Given the description of an element on the screen output the (x, y) to click on. 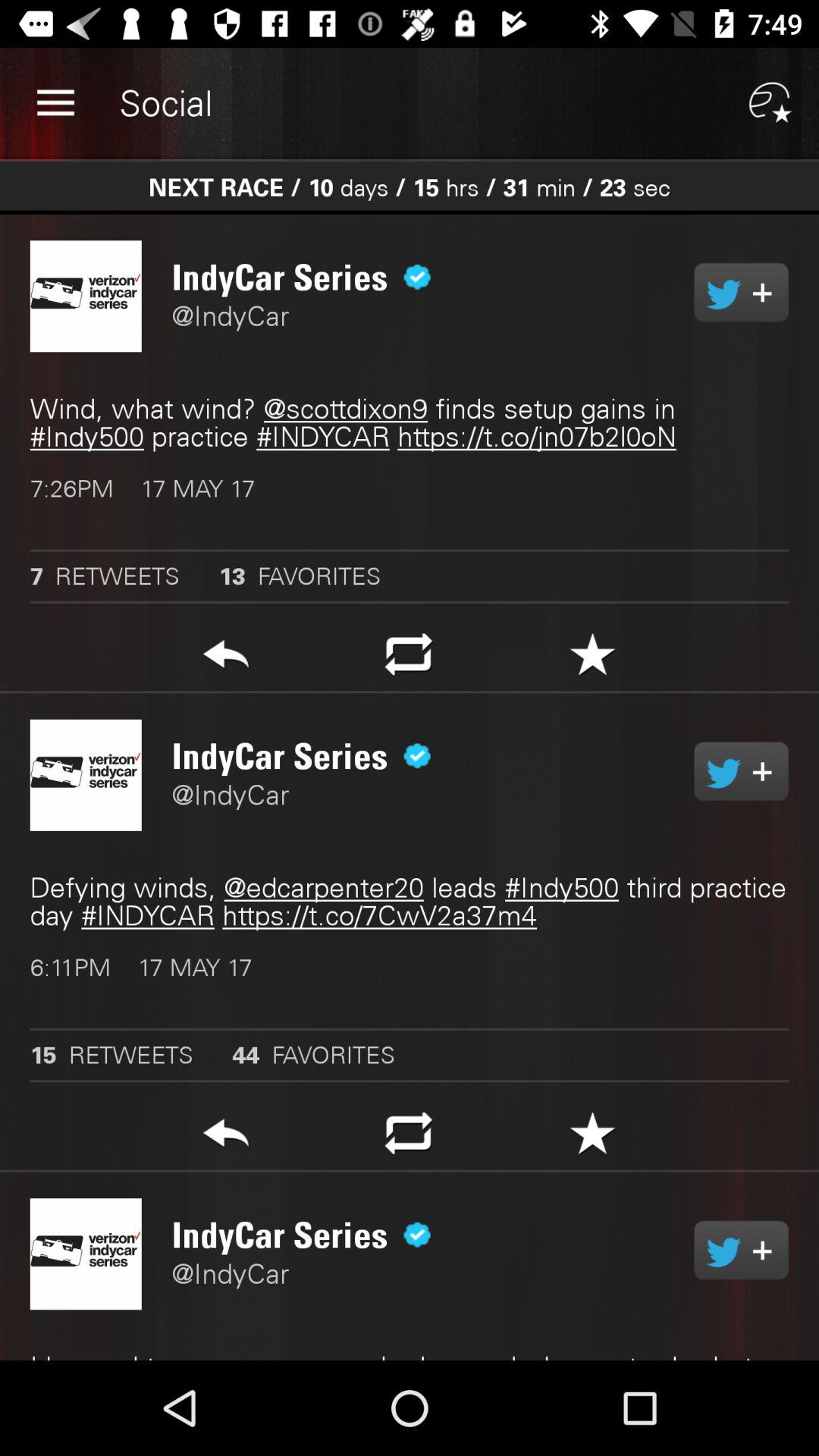
tap the defying winds edcarpenter20 item (409, 901)
